Given the description of an element on the screen output the (x, y) to click on. 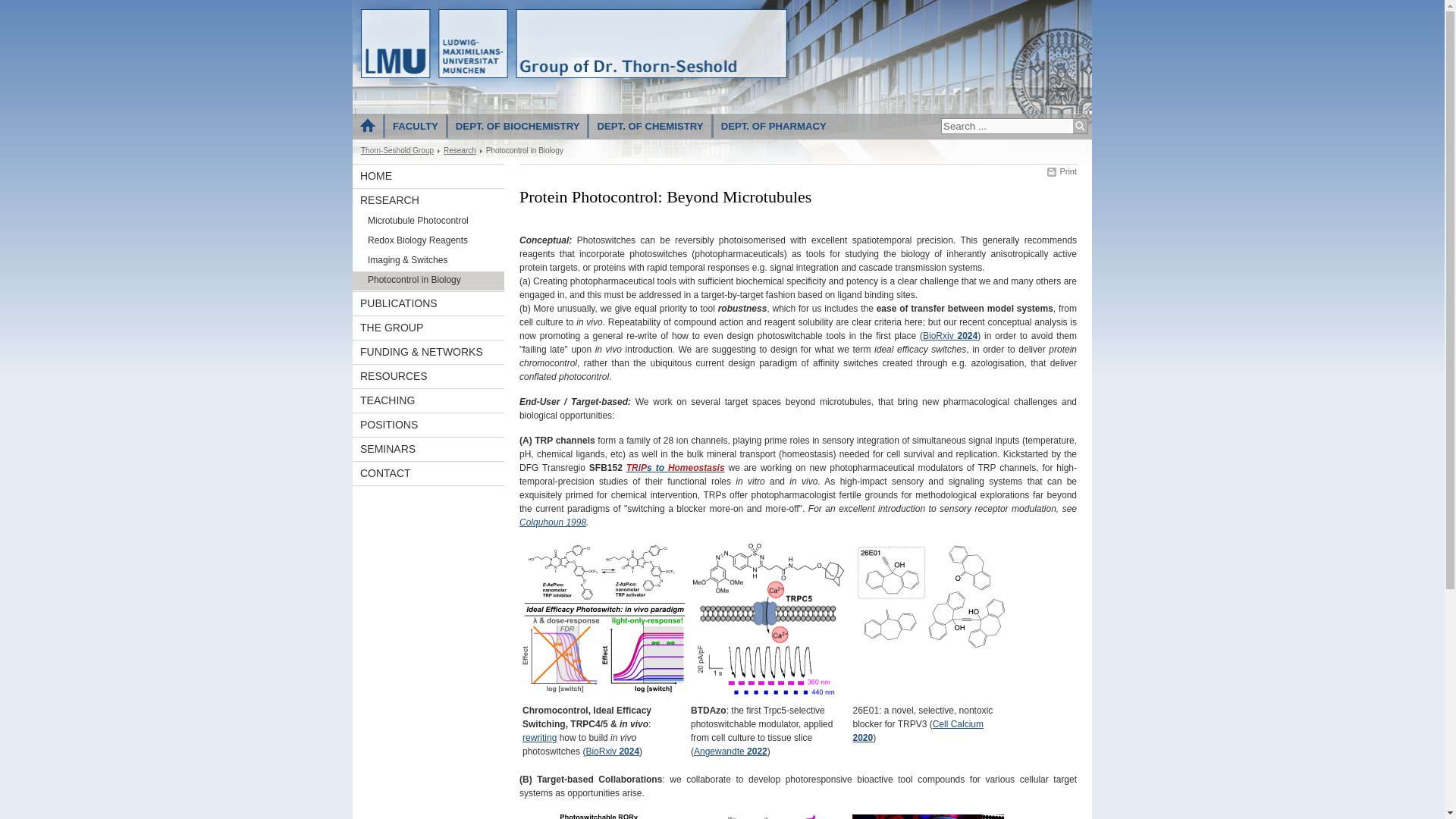
rewriting (539, 737)
Colquhoun 1998 (552, 521)
BioRxiv 2024 (949, 335)
Search (1080, 125)
SEMINARS (427, 449)
Search (1080, 125)
DEPT. OF CHEMISTRY (649, 126)
DEPT. OF PHARMACY (773, 126)
Cell Calcium 2020 (917, 730)
Search ... (1006, 125)
